Given the description of an element on the screen output the (x, y) to click on. 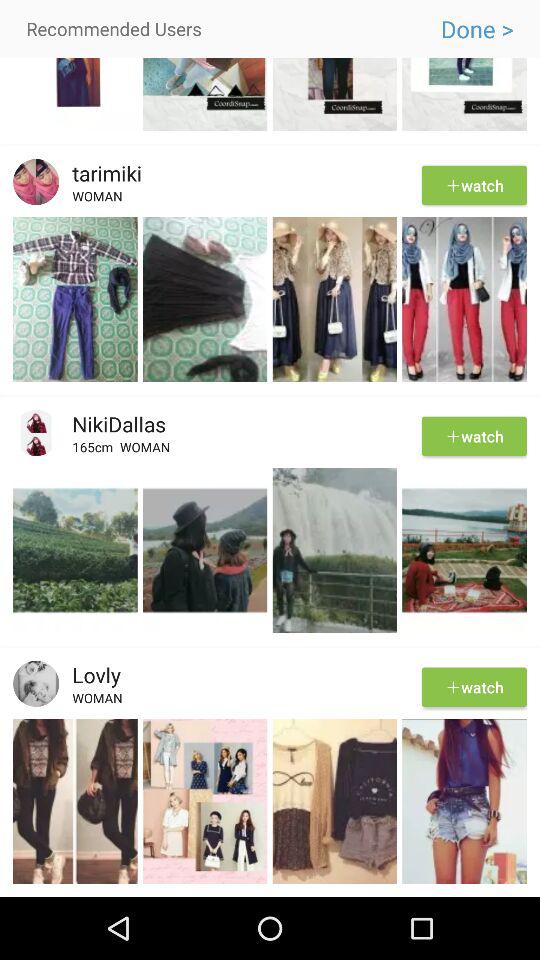
open app to the left of the woman (96, 450)
